Given the description of an element on the screen output the (x, y) to click on. 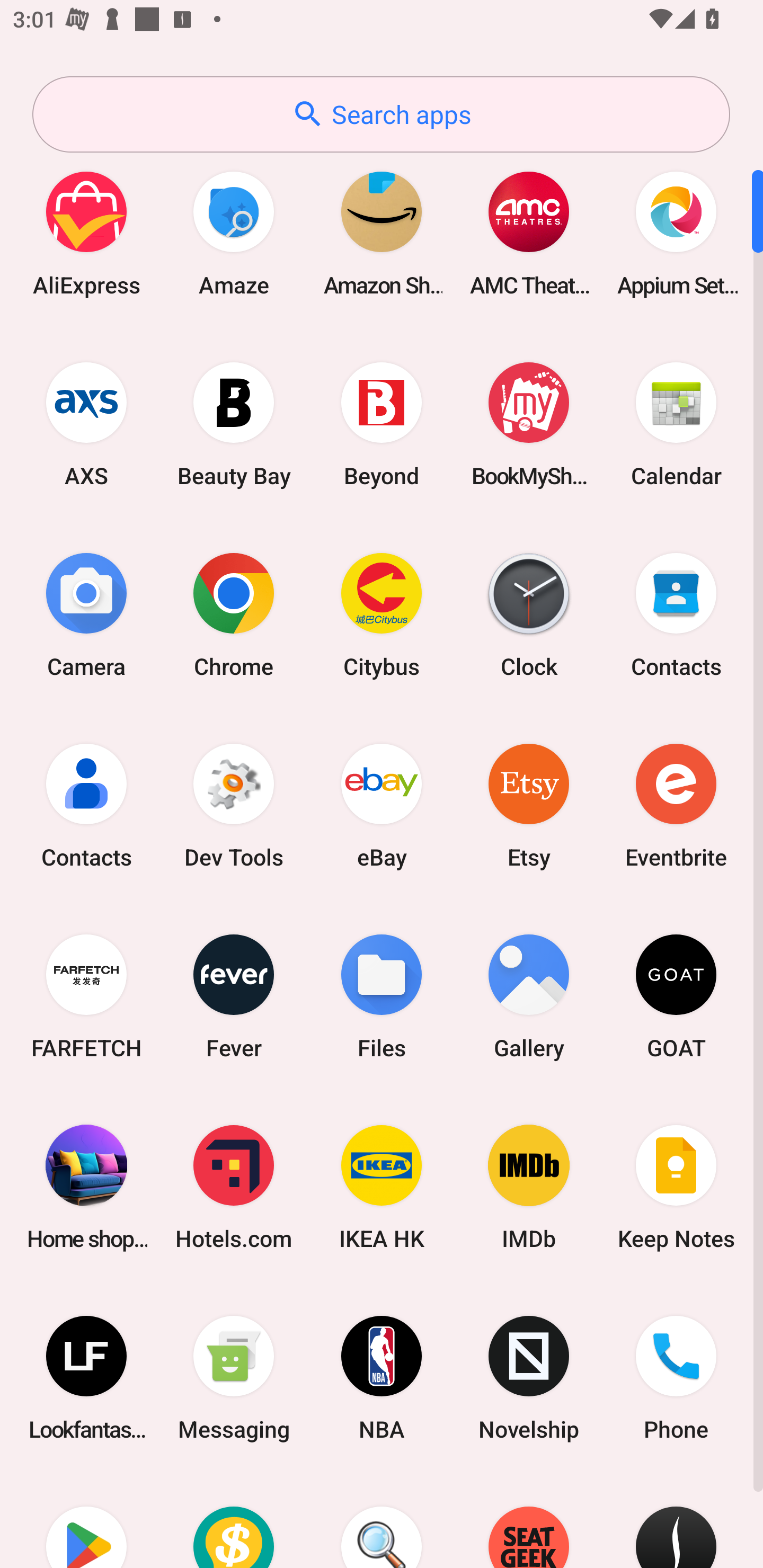
  Search apps (381, 114)
AliExpress (86, 233)
Amaze (233, 233)
Amazon Shopping (381, 233)
AMC Theatres (528, 233)
Appium Settings (676, 233)
AXS (86, 424)
Beauty Bay (233, 424)
Beyond (381, 424)
BookMyShow (528, 424)
Calendar (676, 424)
Camera (86, 614)
Chrome (233, 614)
Citybus (381, 614)
Clock (528, 614)
Contacts (676, 614)
Contacts (86, 805)
Dev Tools (233, 805)
eBay (381, 805)
Etsy (528, 805)
Eventbrite (676, 805)
FARFETCH (86, 996)
Fever (233, 996)
Files (381, 996)
Gallery (528, 996)
GOAT (676, 996)
Home shopping (86, 1186)
Hotels.com (233, 1186)
IKEA HK (381, 1186)
IMDb (528, 1186)
Keep Notes (676, 1186)
Lookfantastic (86, 1377)
Messaging (233, 1377)
NBA (381, 1377)
Novelship (528, 1377)
Phone (676, 1377)
Play Store (86, 1520)
Price (233, 1520)
Search (381, 1520)
SeatGeek (528, 1520)
Sephora (676, 1520)
